Given the description of an element on the screen output the (x, y) to click on. 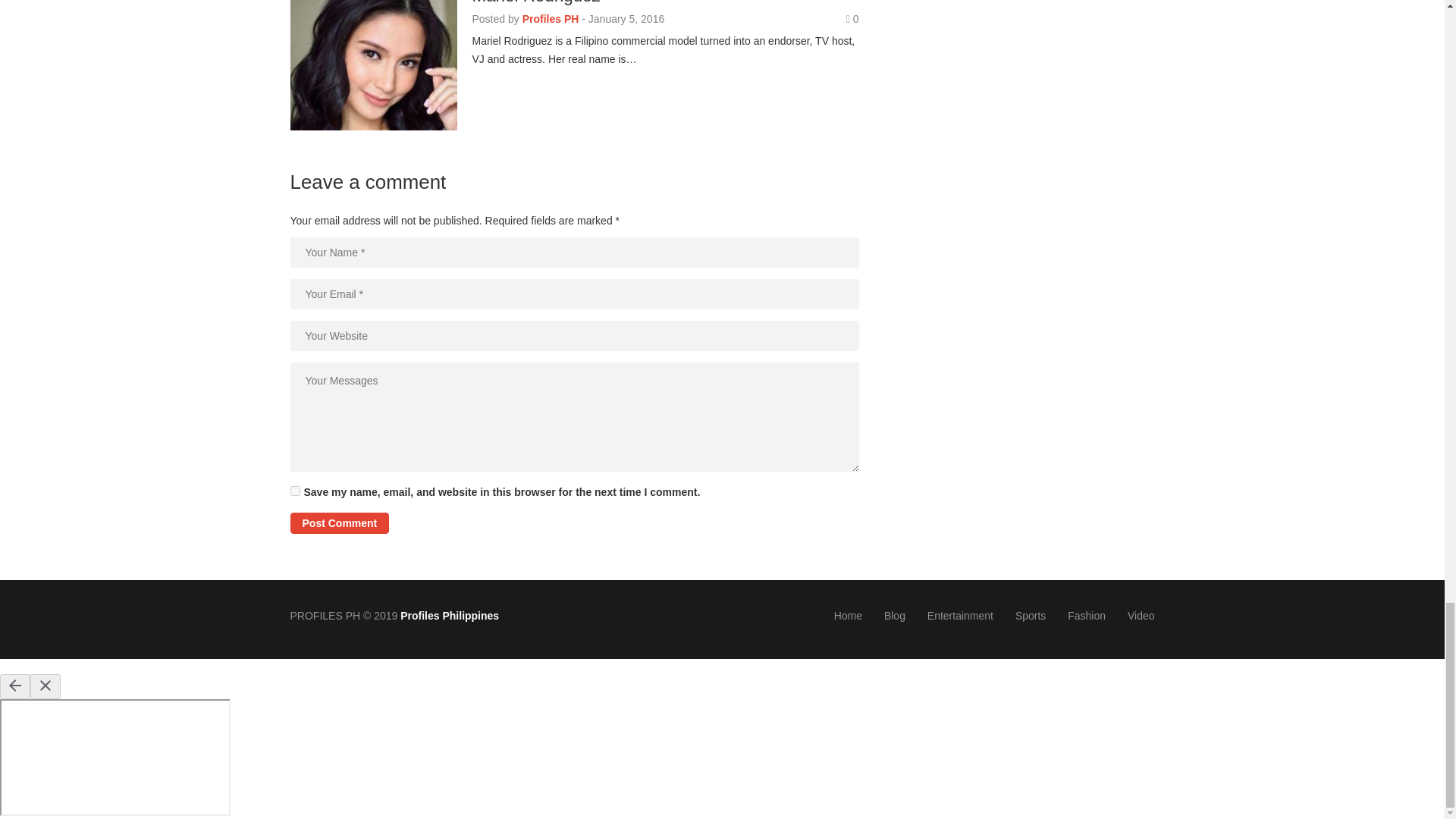
Post Comment (338, 522)
yes (294, 491)
